Given the description of an element on the screen output the (x, y) to click on. 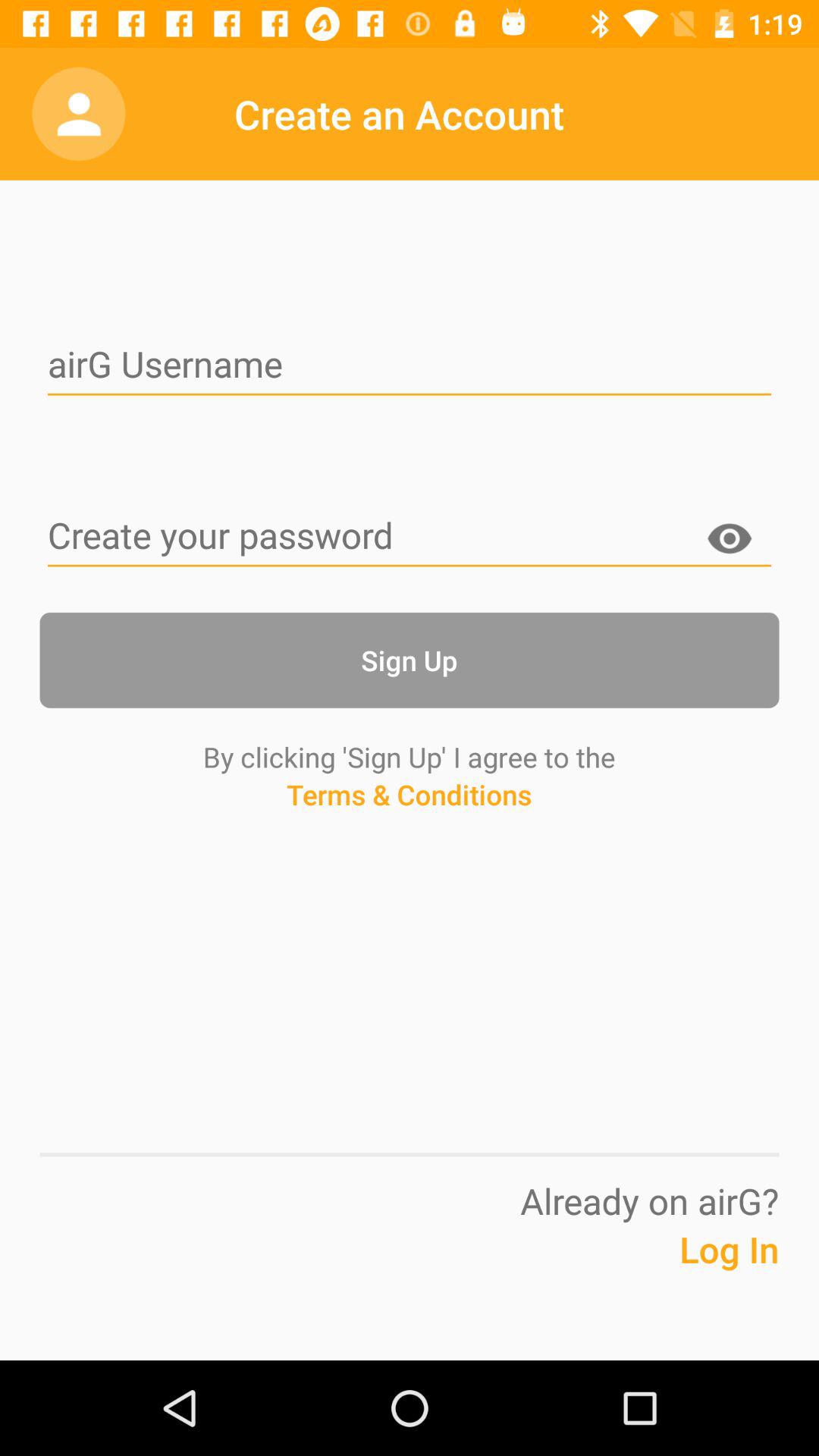
choose icon below the already on airg? item (691, 1272)
